Given the description of an element on the screen output the (x, y) to click on. 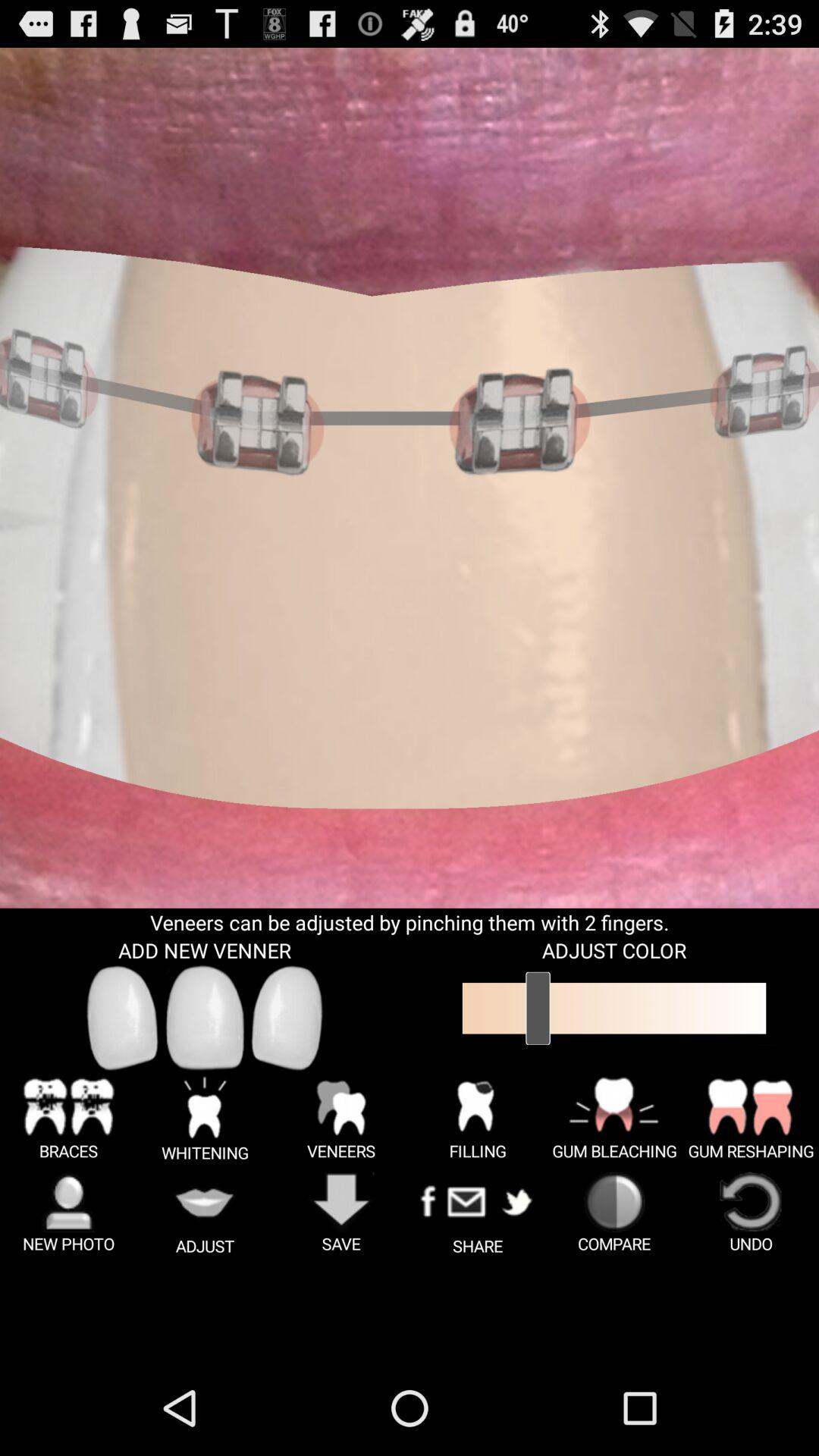
add new venner (204, 1017)
